Given the description of an element on the screen output the (x, y) to click on. 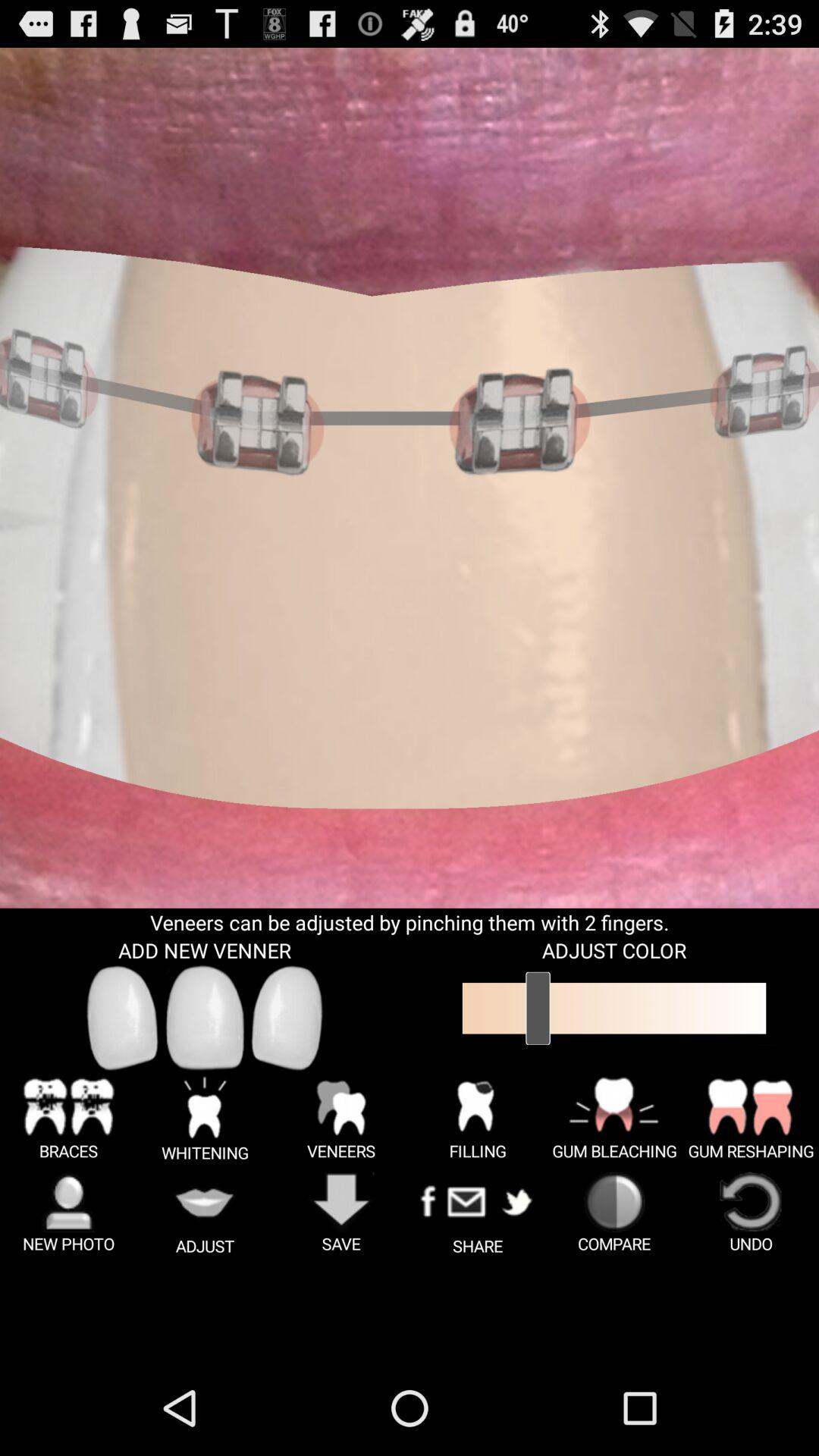
add new venner (204, 1017)
